Given the description of an element on the screen output the (x, y) to click on. 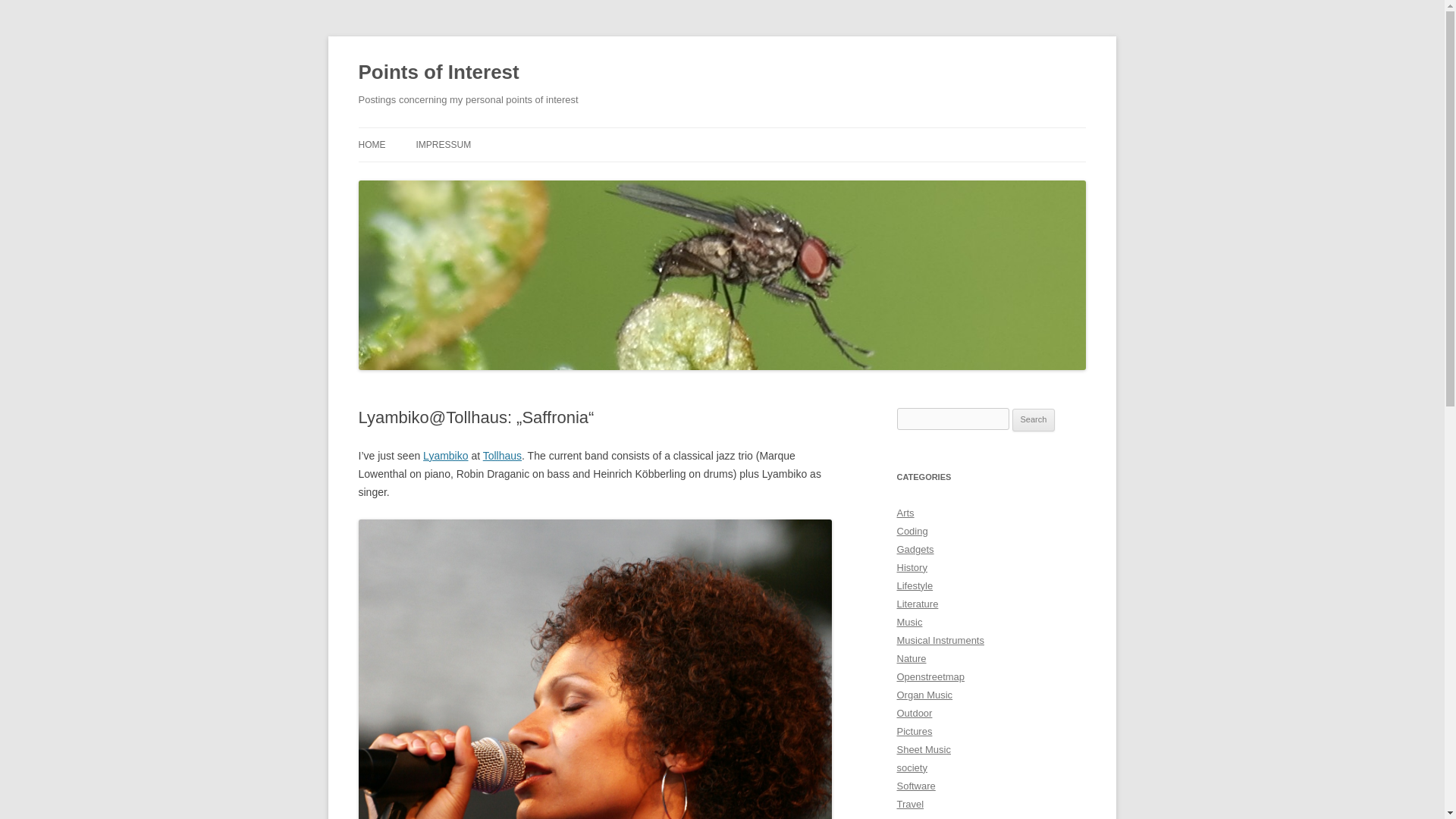
Arts (905, 512)
Travel (909, 803)
Music (908, 622)
IMPRESSUM (442, 144)
Coding (911, 531)
Interesting tools (915, 785)
Organ Music (924, 695)
